Given the description of an element on the screen output the (x, y) to click on. 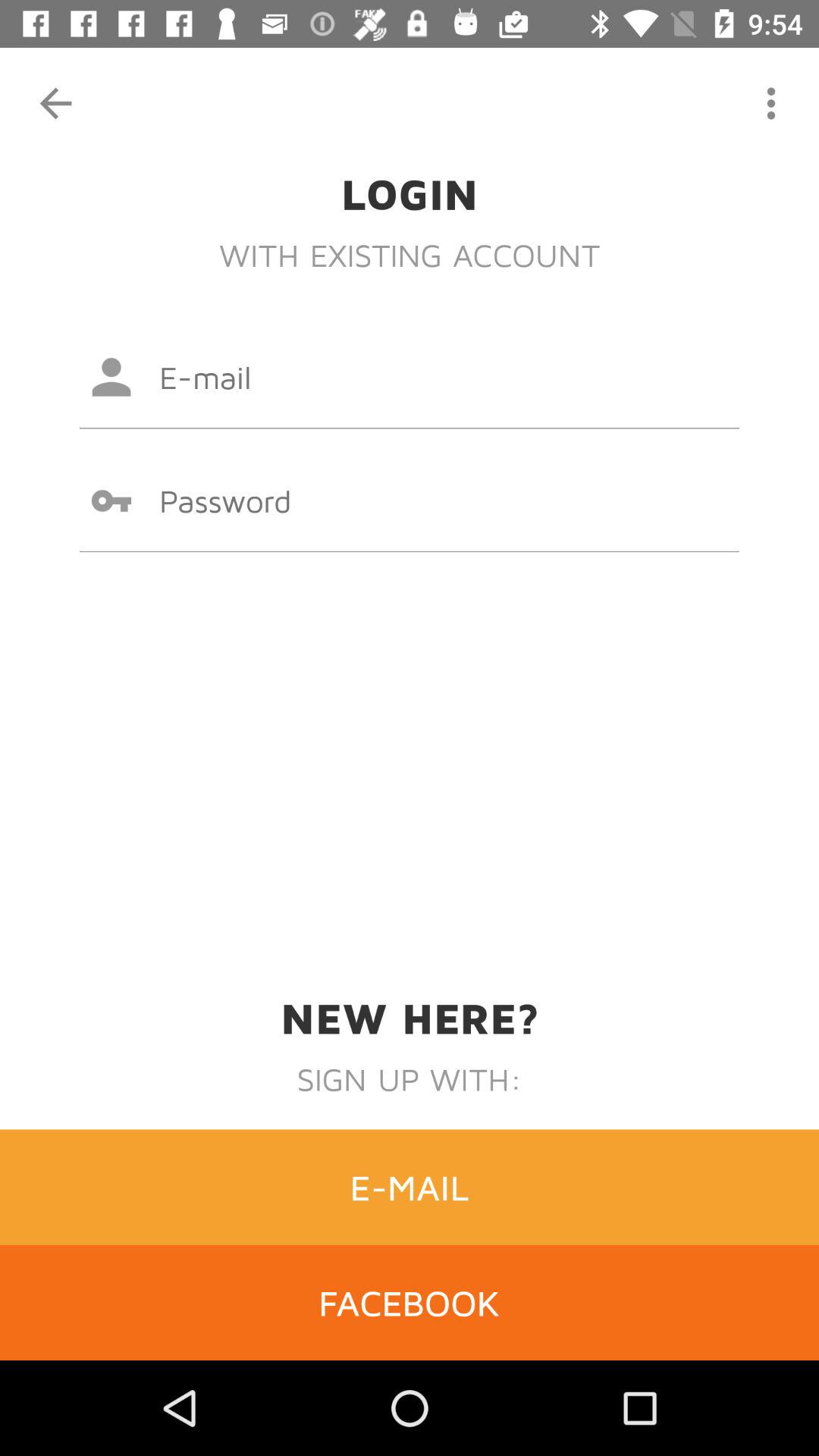
launch icon below the e-mail (409, 1302)
